Given the description of an element on the screen output the (x, y) to click on. 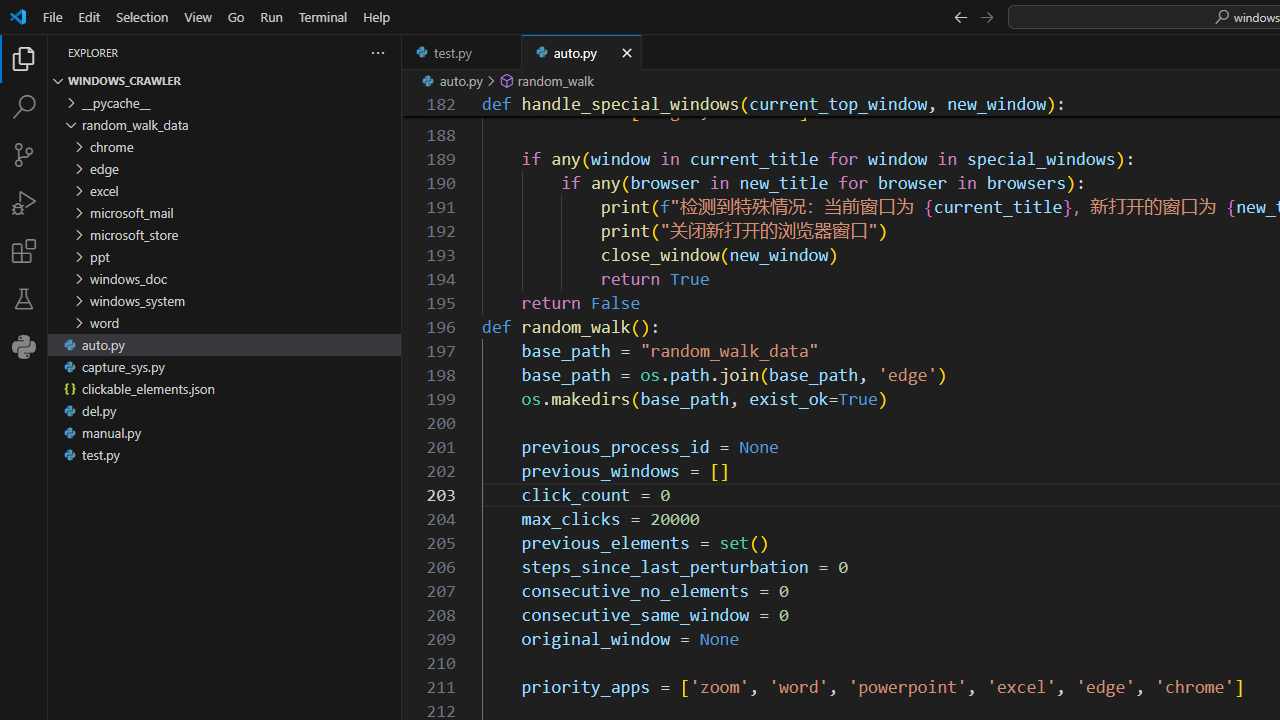
Terminal (322, 16)
Python (24, 346)
Tab actions (627, 52)
Explorer Section: windows_crawler (224, 80)
Run (271, 16)
Close (Ctrl+F4) (626, 52)
Explorer (Ctrl+Shift+E) (24, 58)
Run and Debug (Ctrl+Shift+D) (24, 202)
Search (Ctrl+Shift+F) (24, 106)
test.py (461, 52)
Selection (141, 16)
